Given the description of an element on the screen output the (x, y) to click on. 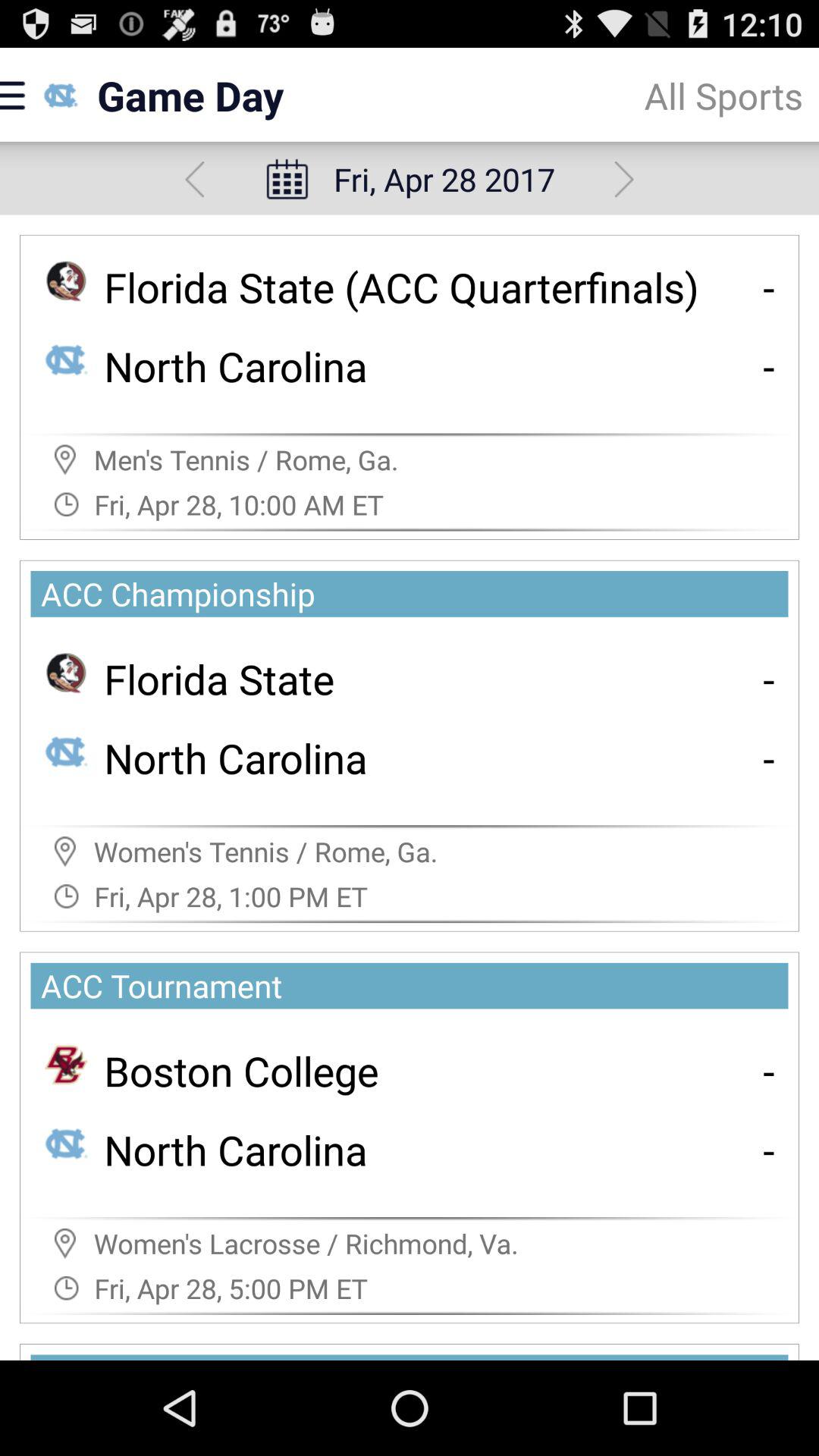
turn on the item next to the north carolina item (768, 365)
